Given the description of an element on the screen output the (x, y) to click on. 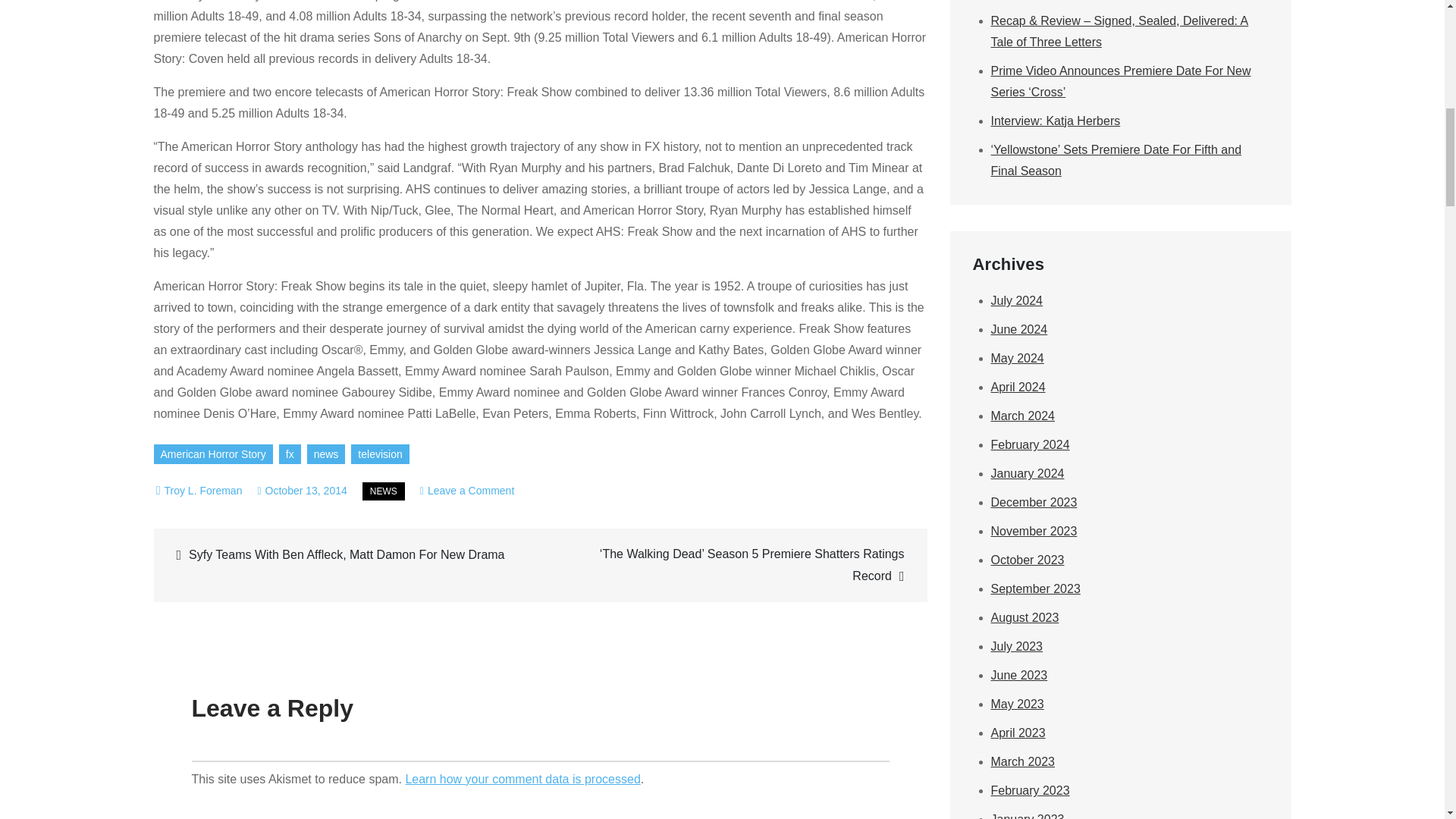
May 2024 (1016, 358)
June 2024 (1018, 328)
news (326, 454)
American Horror Story (212, 454)
Learn how your comment data is processed (522, 779)
Syfy Teams With Ben Affleck, Matt Damon For New Drama (348, 554)
July 2024 (1016, 300)
television (379, 454)
fx (290, 454)
Troy L. Foreman (202, 490)
Interview: Katja Herbers (1054, 120)
October 13, 2014 (301, 490)
March 2024 (1022, 415)
NEWS (383, 491)
